Given the description of an element on the screen output the (x, y) to click on. 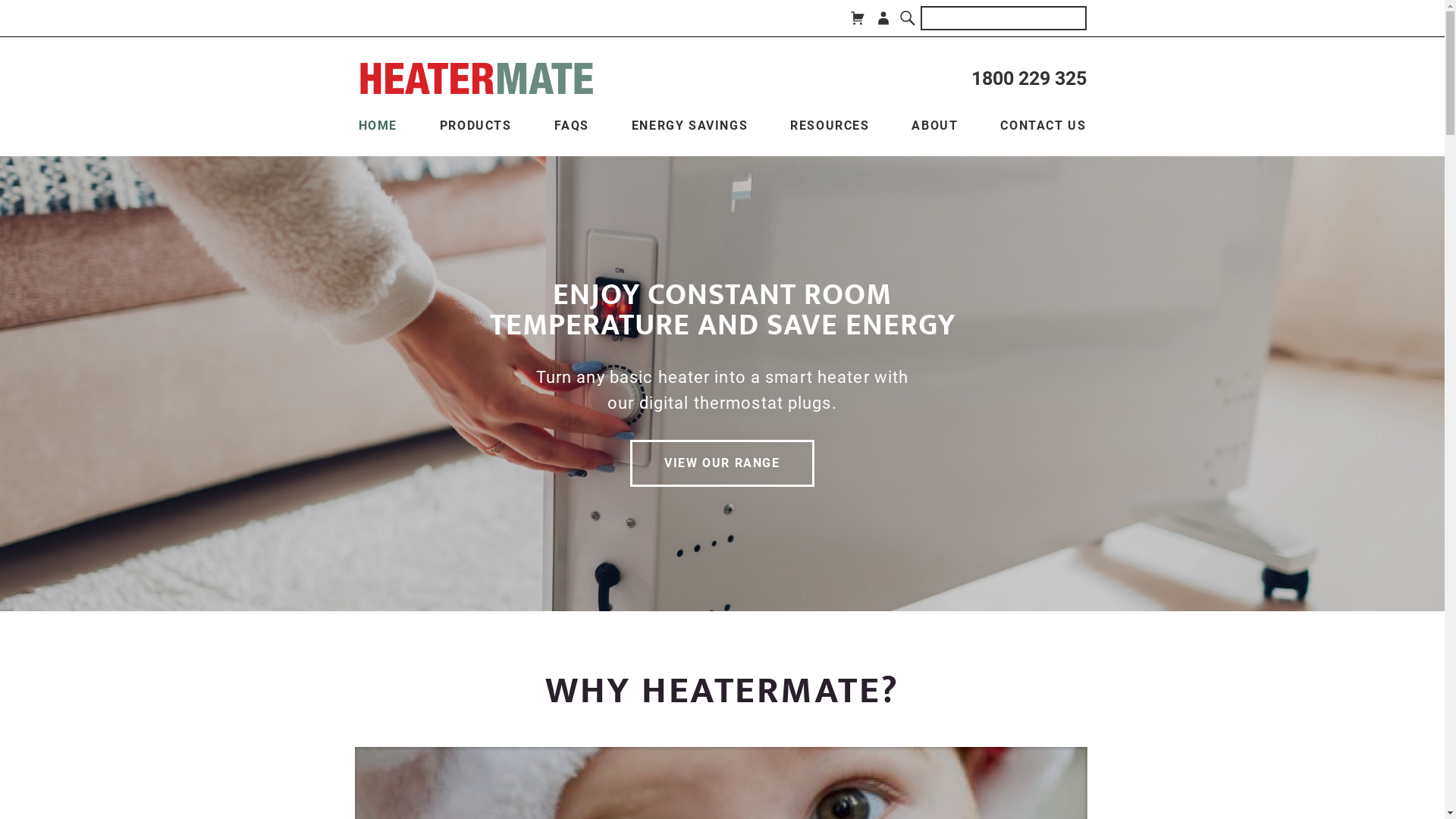
ENERGY SAVINGS Element type: text (689, 125)
PRODUCTS Element type: text (475, 125)
VIEW OUR RANGE Element type: text (721, 462)
FAQS Element type: text (571, 125)
HOME Element type: text (376, 125)
1800 229 325 Element type: text (1027, 78)
CONTACT US Element type: text (1042, 125)
RESOURCES Element type: text (829, 125)
ABOUT Element type: text (934, 125)
Search Element type: hover (908, 18)
